Given the description of an element on the screen output the (x, y) to click on. 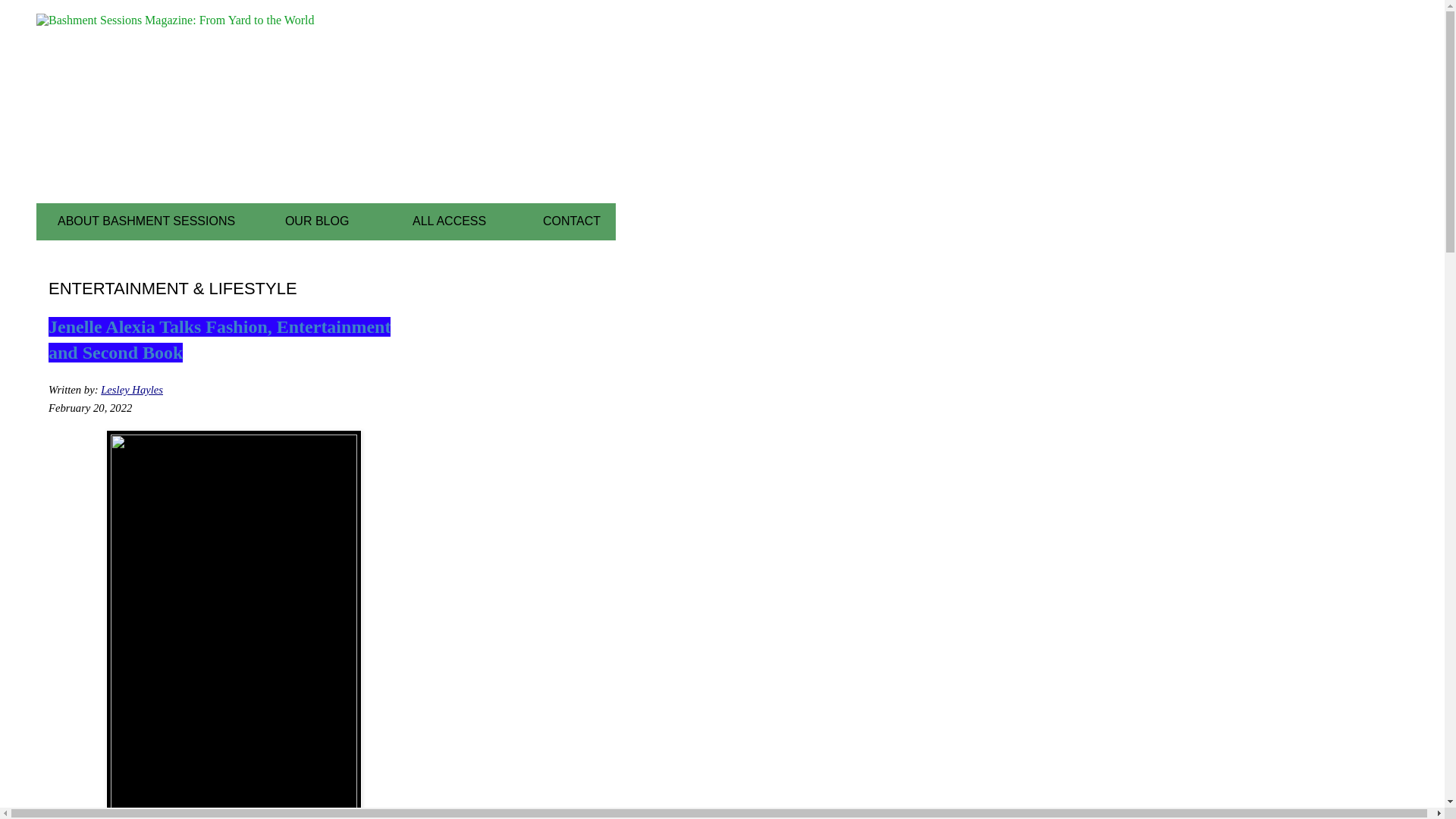
CONTACT (571, 221)
ABOUT BASHMENT SESSIONS (146, 221)
Lesley Hayles (131, 389)
